Given the description of an element on the screen output the (x, y) to click on. 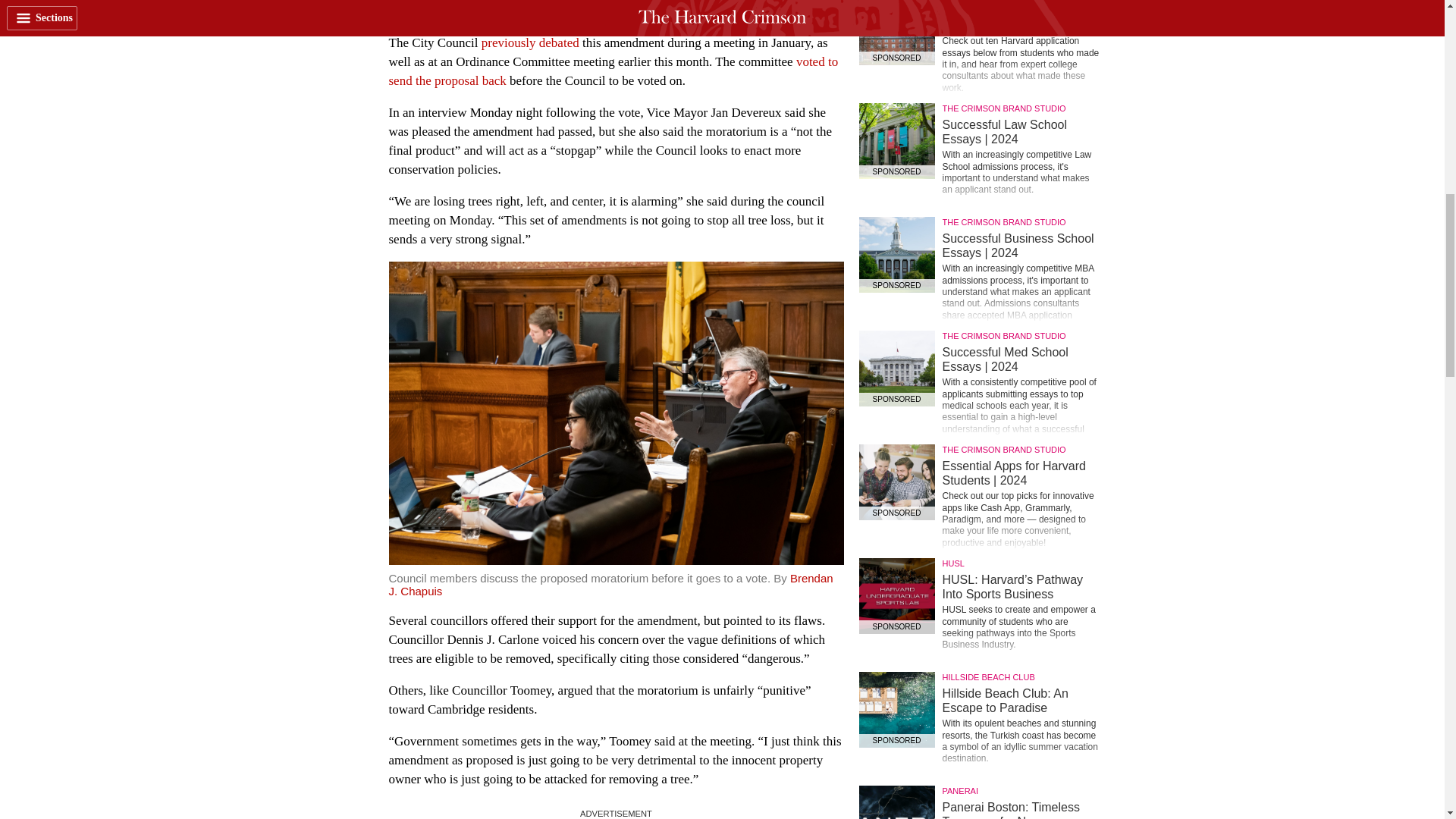
voted to send the proposal back (613, 70)
Brendan J. Chapuis (610, 584)
previously debated (530, 42)
